Given the description of an element on the screen output the (x, y) to click on. 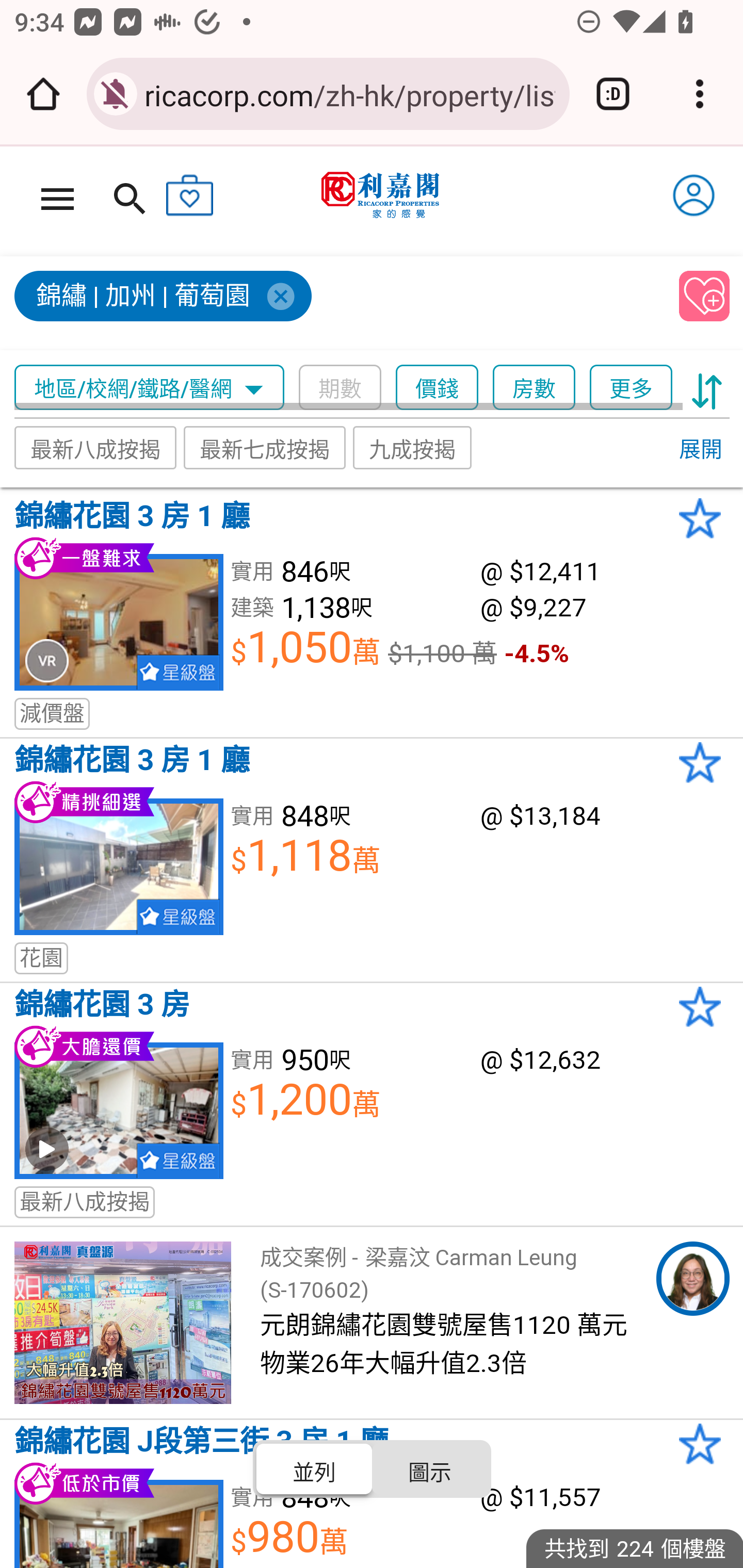
Open the home page (43, 93)
Connection is secure (115, 93)
Switch or close tabs (612, 93)
Customize and control Google Chrome (699, 93)
錦繡 | 加州 | 葡萄園 (338, 304)
地區/校網/鐵路/醫網 (149, 387)
期數 (339, 387)
價錢 (436, 387)
房數 (533, 387)
更多 (630, 387)
sort (706, 387)
最新八成按揭 (95, 446)
最新七成按揭 (264, 446)
九成按揭 (412, 446)
並列 (314, 1468)
圖示 (429, 1468)
